Given the description of an element on the screen output the (x, y) to click on. 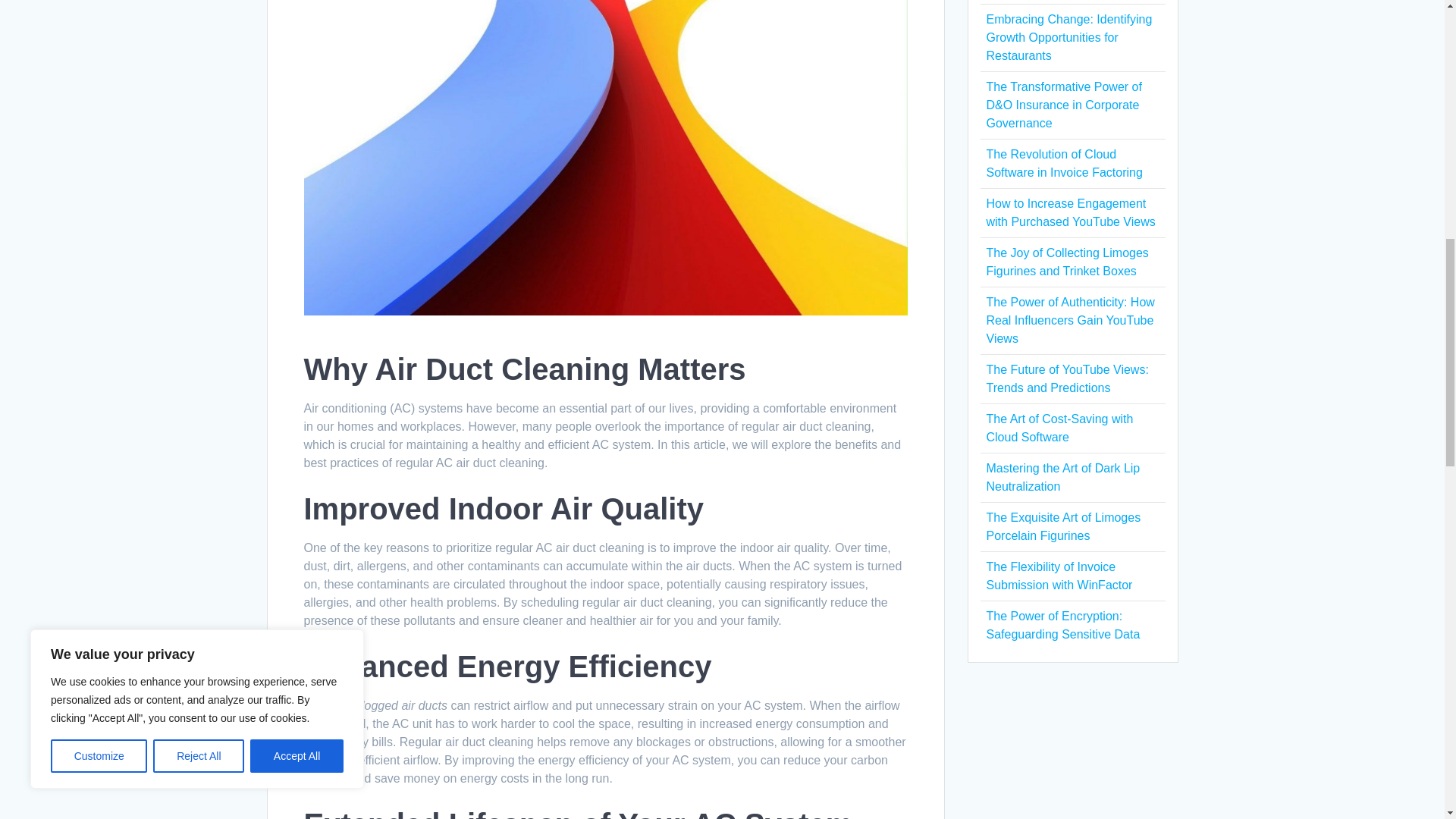
How to Increase Engagement with Purchased YouTube Views (1069, 212)
The Joy of Collecting Limoges Figurines and Trinket Boxes (1066, 261)
The Revolution of Cloud Software in Invoice Factoring (1063, 163)
The Future of YouTube Views: Trends and Predictions (1066, 378)
